Given the description of an element on the screen output the (x, y) to click on. 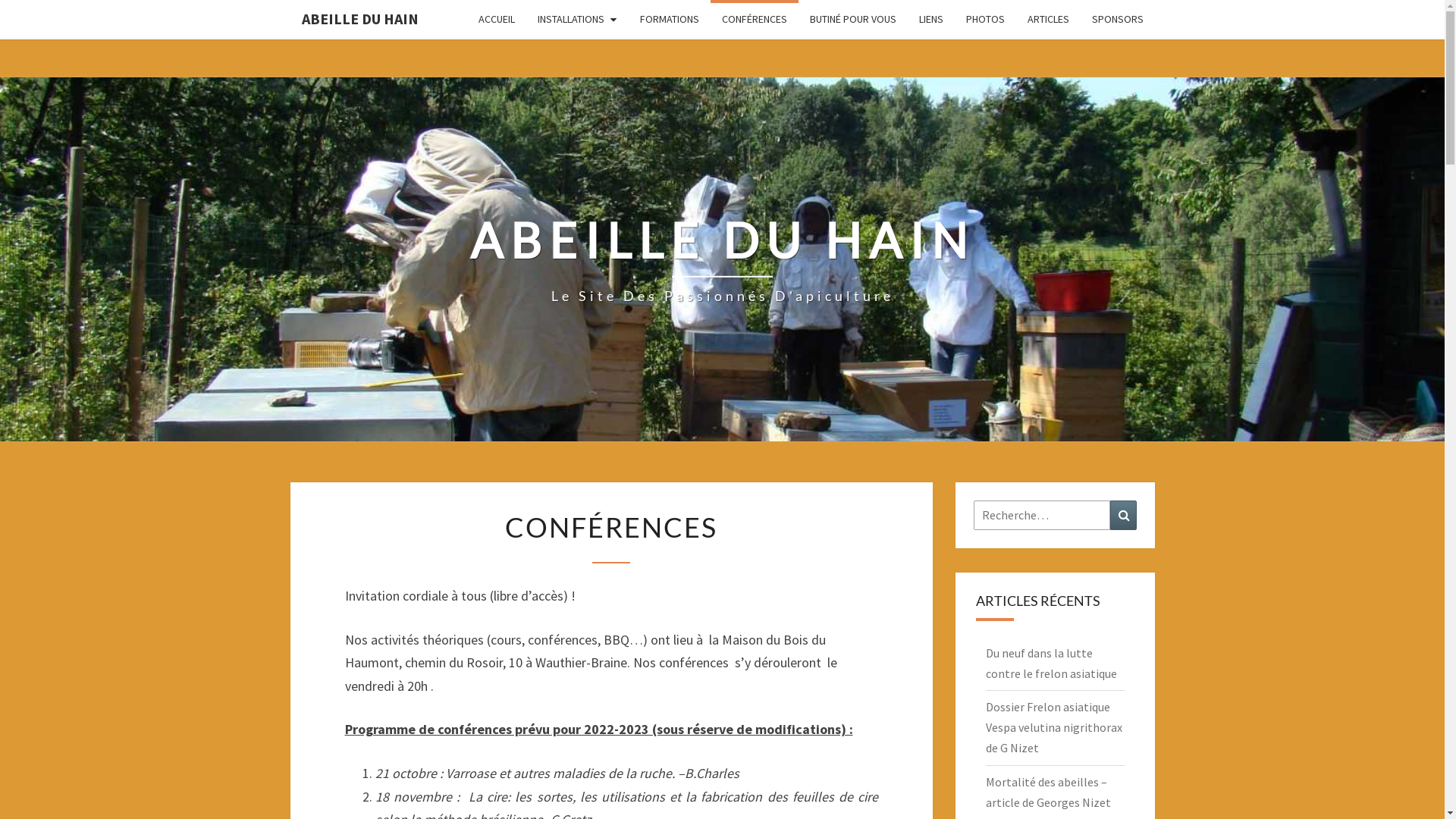
PHOTOS Element type: text (984, 19)
ACCUEIL Element type: text (496, 19)
Du neuf dans la lutte contre le frelon asiatique Element type: text (1051, 662)
FORMATIONS Element type: text (668, 19)
SPONSORS Element type: text (1116, 19)
ARTICLES Element type: text (1048, 19)
ABEILLE DU HAIN Element type: text (359, 18)
Recherche Element type: text (1123, 515)
LIENS Element type: text (929, 19)
INSTALLATIONS Element type: text (577, 19)
